Given the description of an element on the screen output the (x, y) to click on. 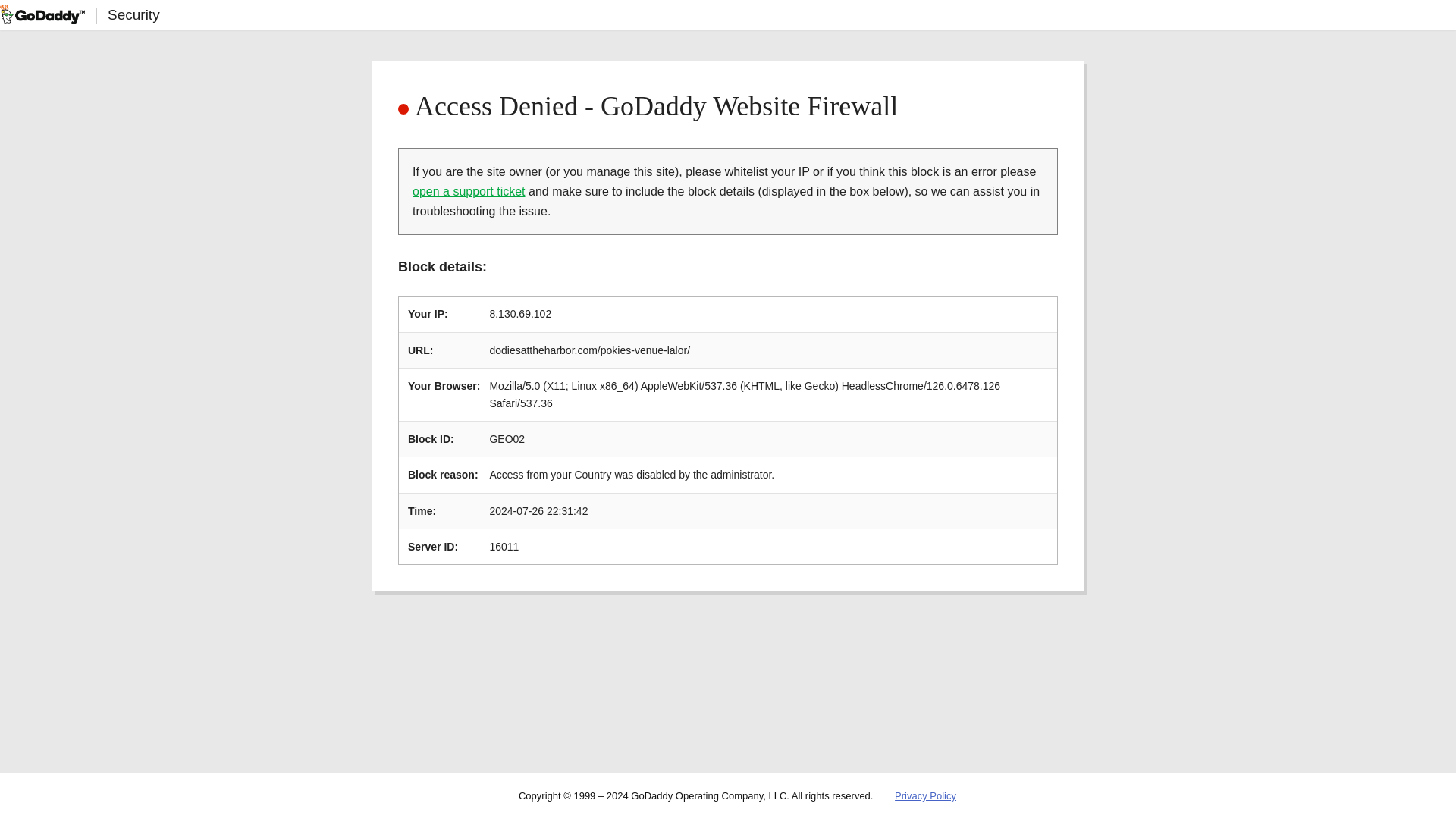
open a support ticket (468, 191)
Privacy Policy (925, 795)
